Given the description of an element on the screen output the (x, y) to click on. 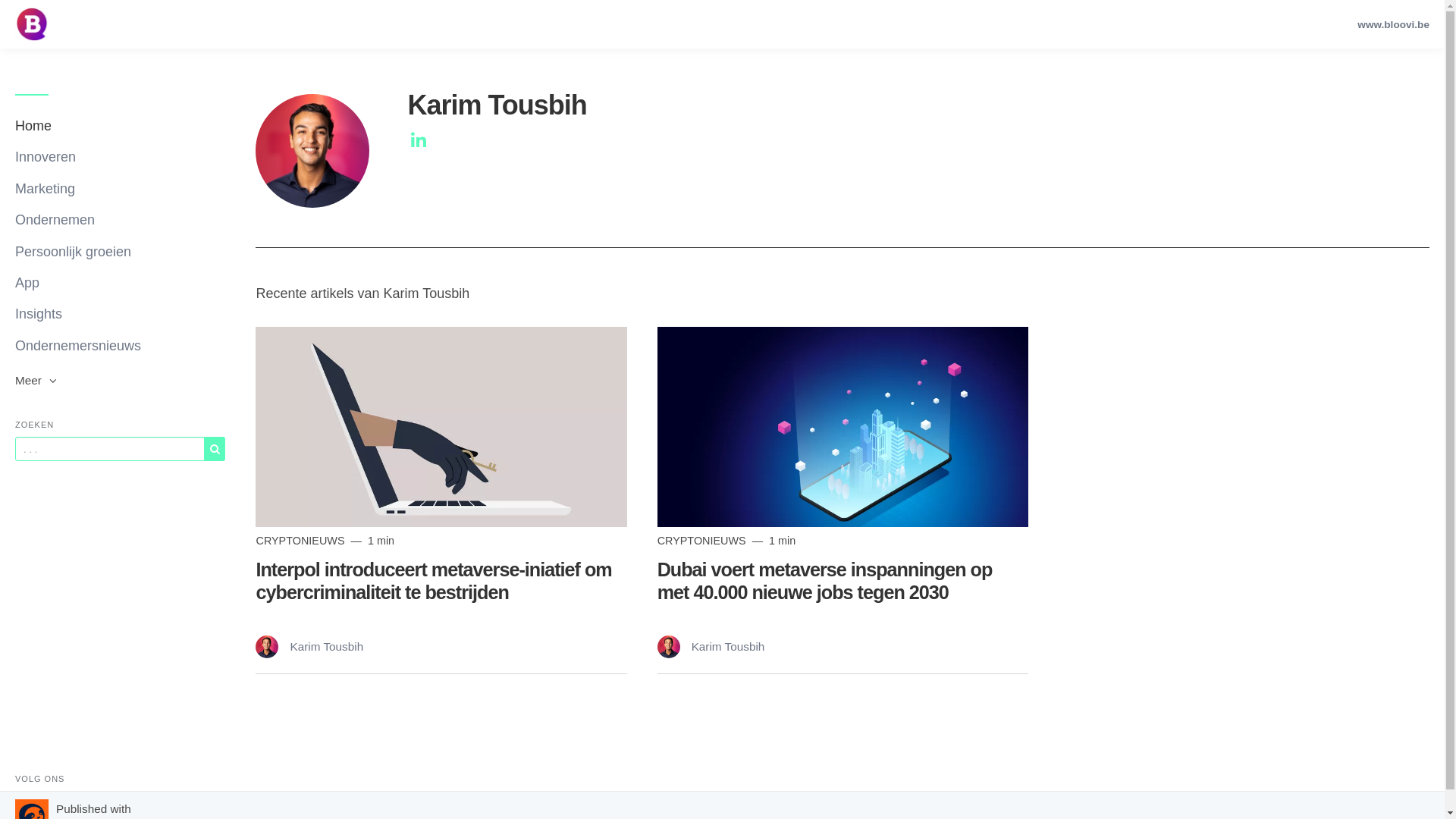
Bloovi Element type: hover (31, 23)
www.bloovi.be Element type: text (1393, 24)
Insights Element type: text (120, 313)
Ondernemen Element type: text (120, 219)
Persoonlijk groeien Element type: text (120, 251)
Marketing Element type: text (120, 188)
CRYPTONIEUWS Element type: text (703, 540)
Meer Element type: text (120, 380)
App Element type: text (120, 282)
CRYPTONIEUWS Element type: text (301, 540)
Innoveren Element type: text (120, 156)
Home Element type: text (120, 125)
Ondernemersnieuws Element type: text (120, 345)
Karim Tousbih Element type: text (711, 645)
Karim Tousbih Element type: text (309, 645)
